Given the description of an element on the screen output the (x, y) to click on. 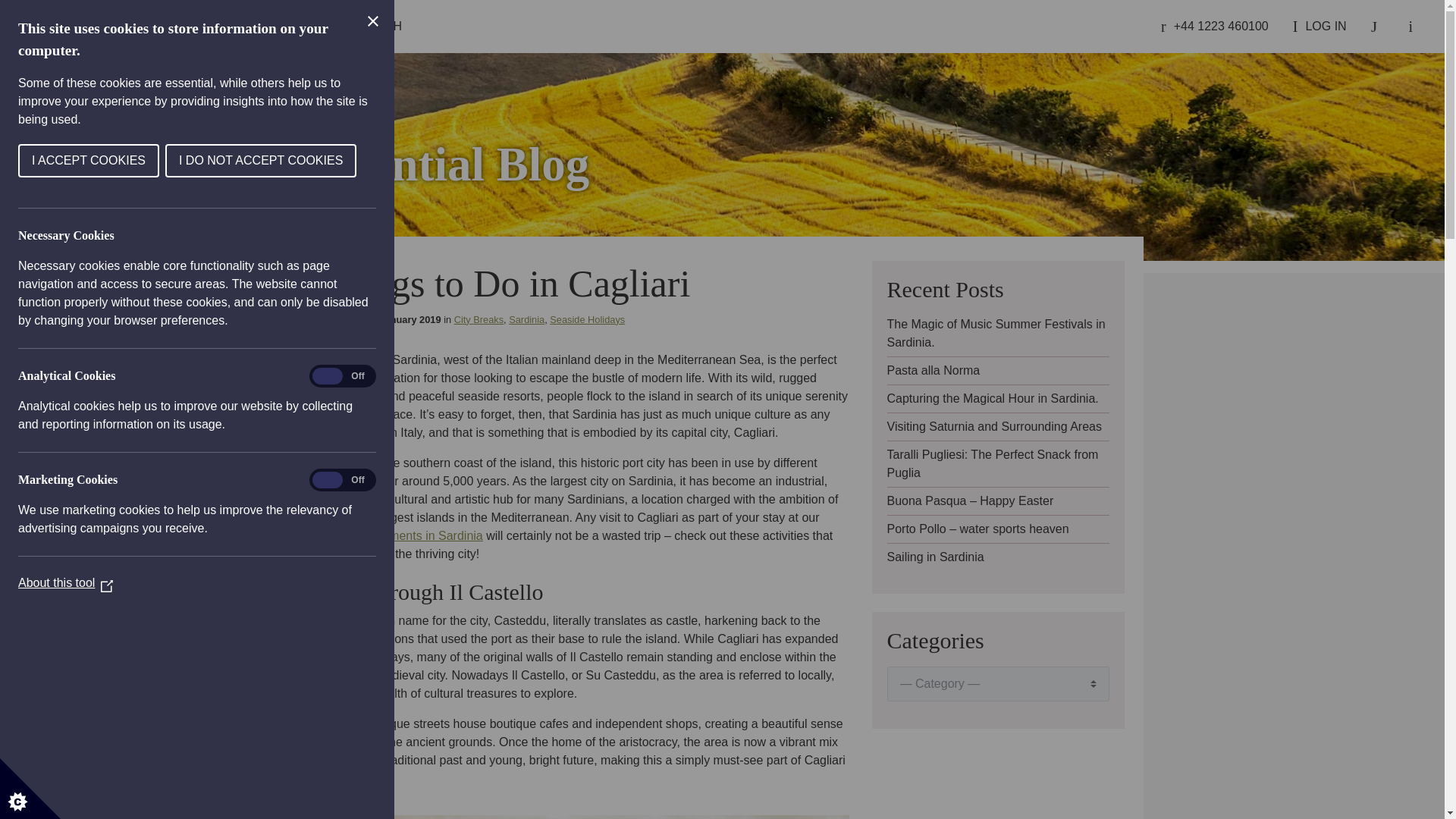
SEARCH (369, 26)
REGIONS (247, 26)
I DO NOT ACCEPT COOKIES (78, 160)
LOG IN (1319, 26)
